Given the description of an element on the screen output the (x, y) to click on. 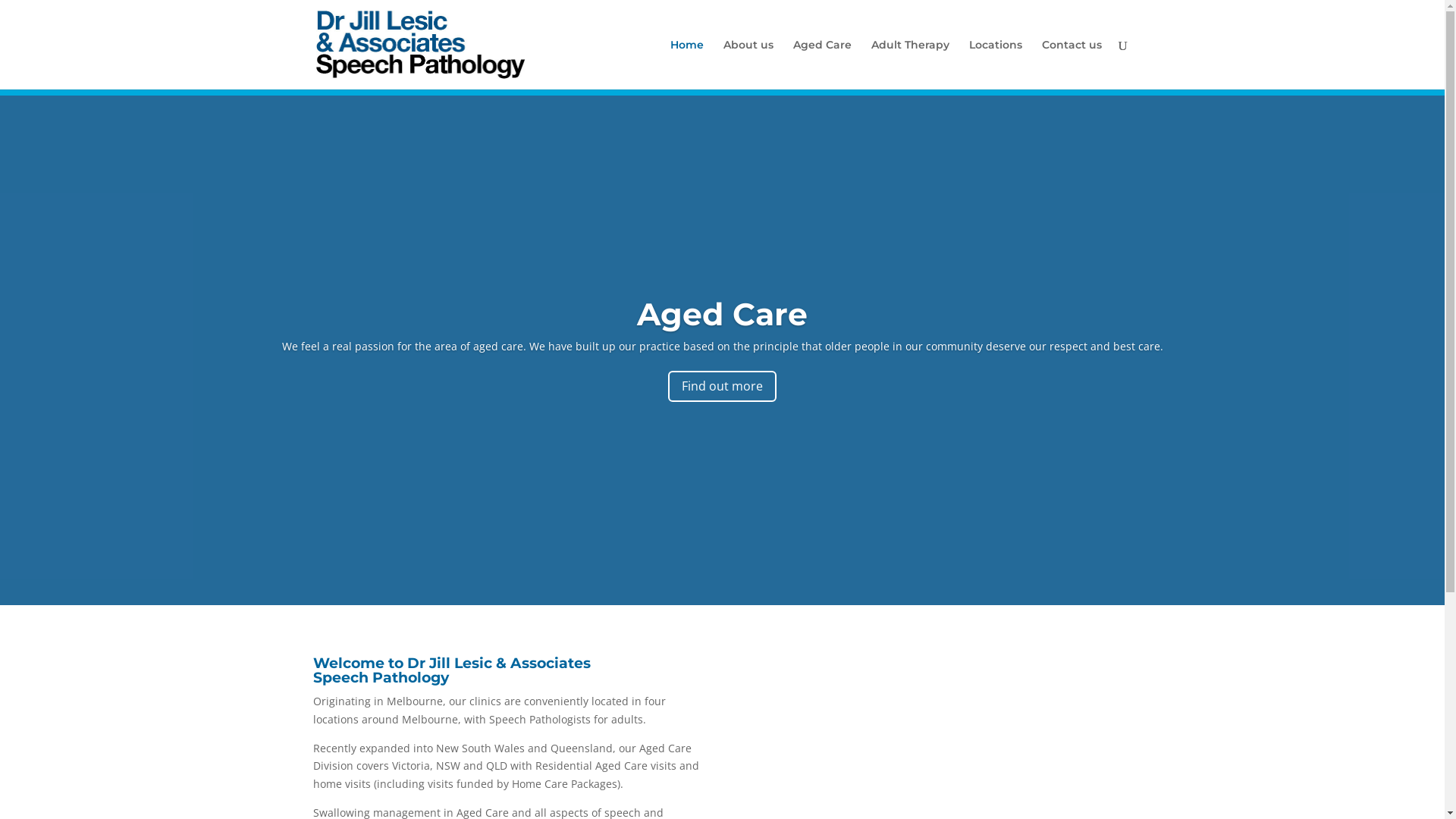
Locations Element type: text (995, 64)
Contact us Element type: text (1071, 64)
Aged Care Element type: text (822, 64)
Adult Therapy Element type: text (909, 64)
Home Element type: text (686, 64)
Aged Care Element type: text (722, 313)
About us Element type: text (748, 64)
Find out more Element type: text (722, 385)
